Given the description of an element on the screen output the (x, y) to click on. 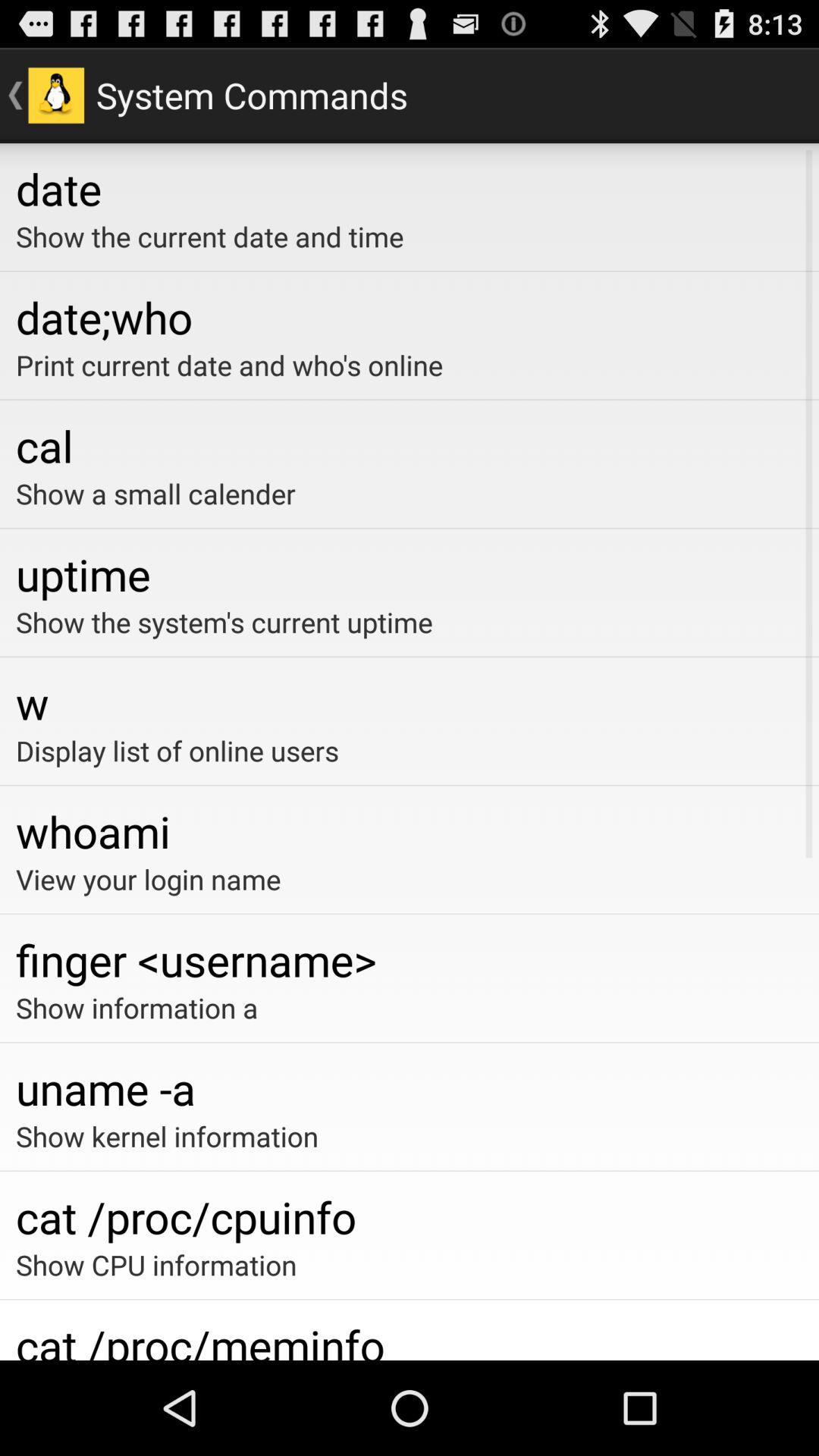
jump to w (409, 702)
